Given the description of an element on the screen output the (x, y) to click on. 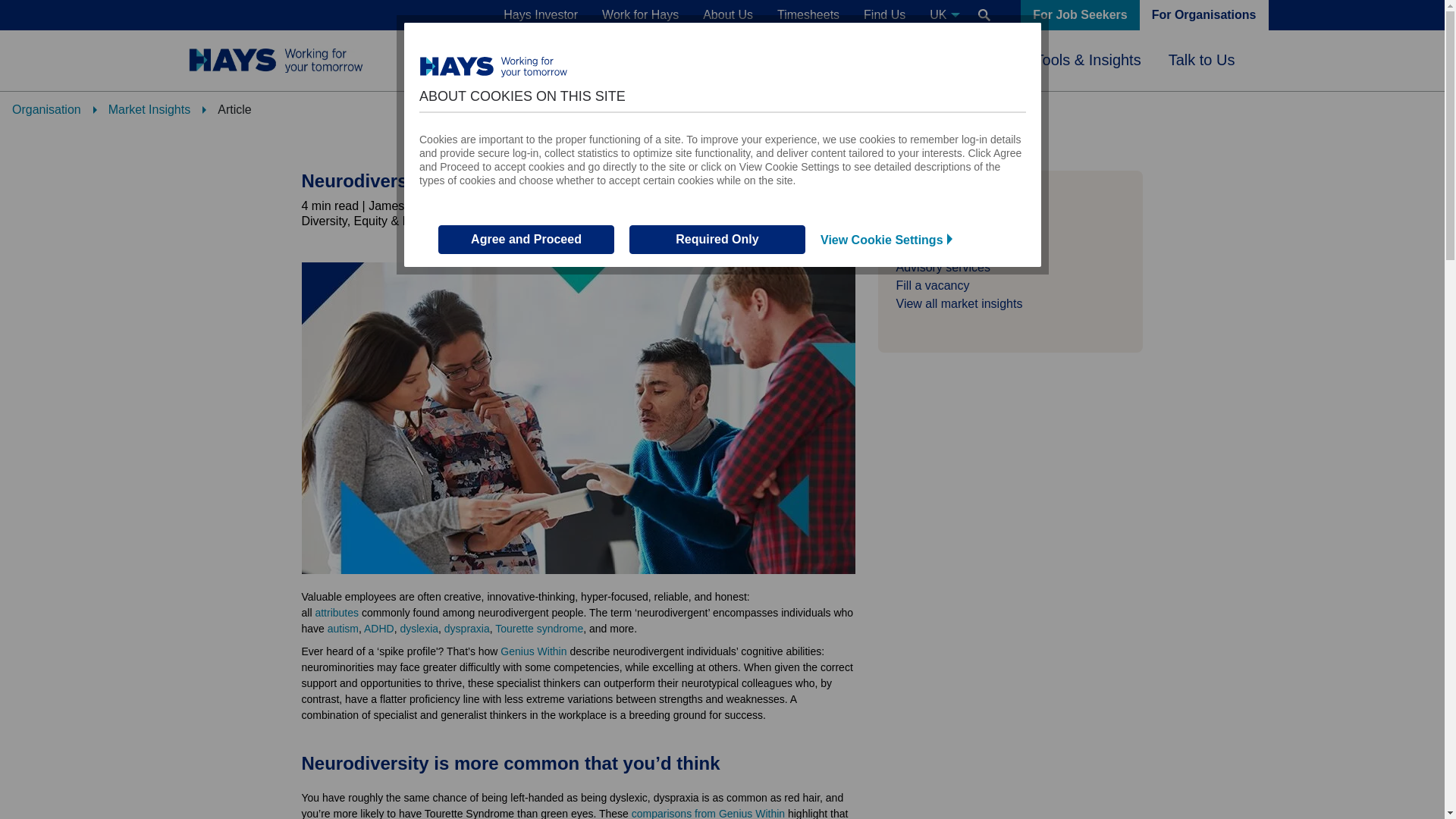
For Organisations (1204, 15)
Find Us (884, 15)
UK (941, 15)
Hays Investor (540, 15)
Timesheets (808, 15)
About Us (727, 15)
Work for Hays (639, 15)
For Job Seekers (1080, 15)
